Given the description of an element on the screen output the (x, y) to click on. 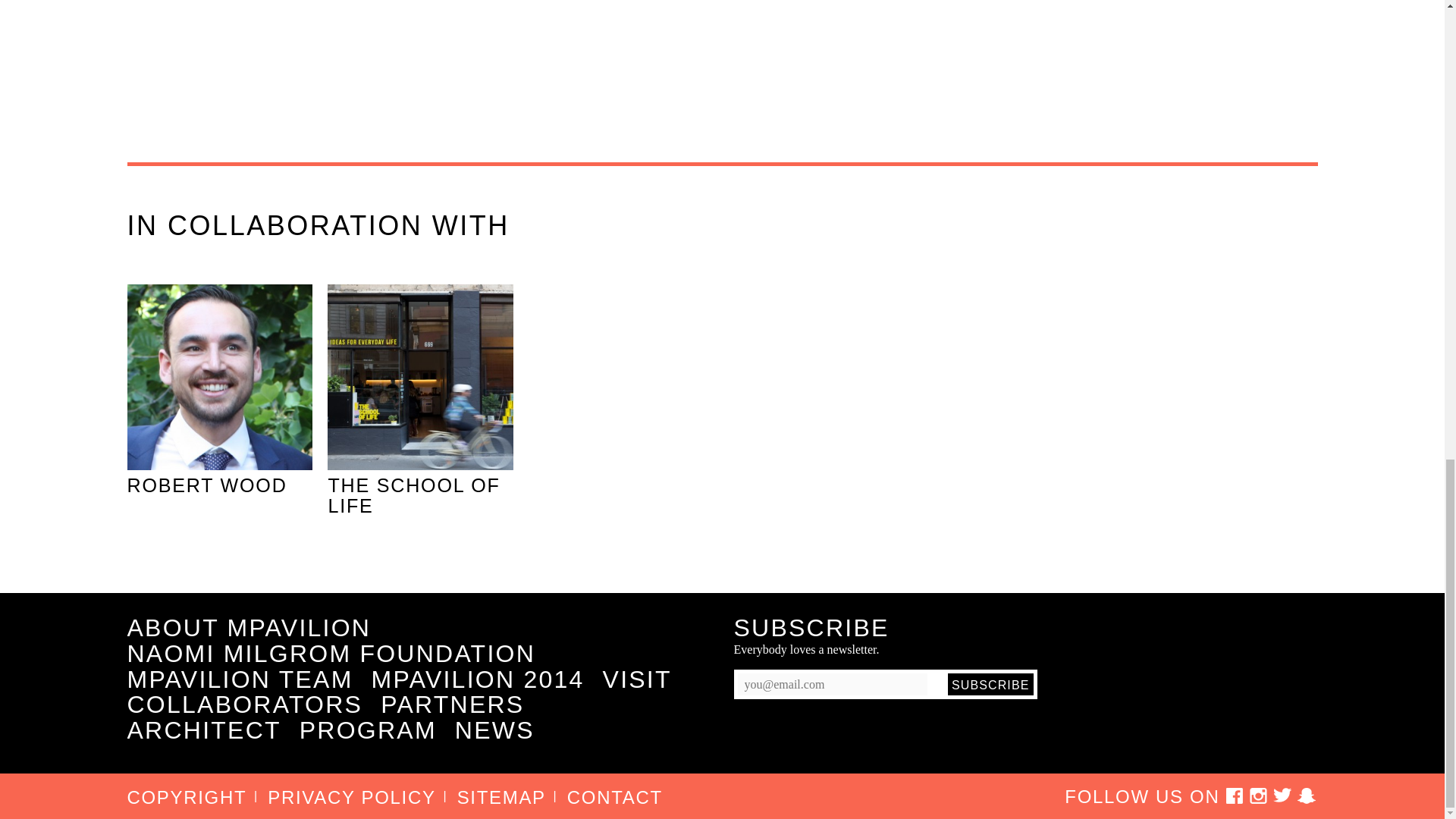
VISIT (636, 679)
NAOMI MILGROM FOUNDATION (331, 654)
MPAVILION 2014 (478, 679)
COLLABORATORS (245, 705)
ARCHITECT (204, 730)
MPAVILION TEAM (240, 679)
PARTNERS (452, 705)
PROGRAM (367, 730)
ABOUT MPAVILION (249, 628)
